Given the description of an element on the screen output the (x, y) to click on. 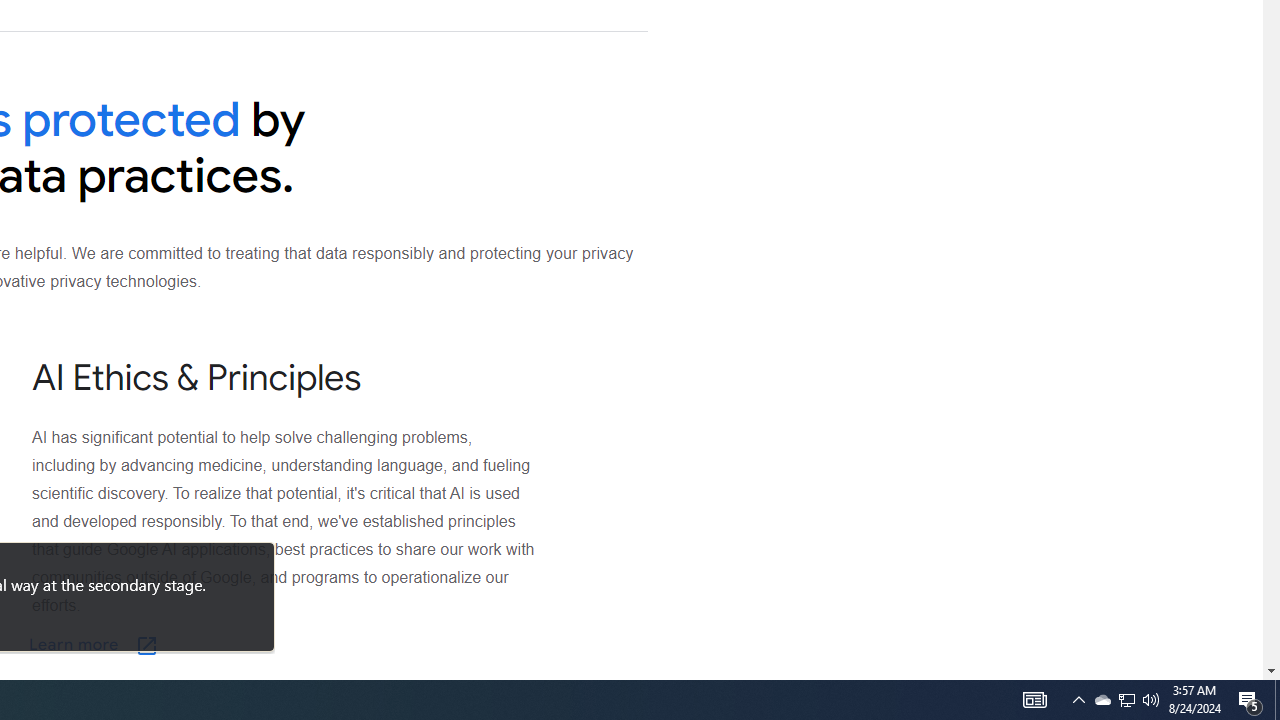
Learn more  (193, 645)
